Given the description of an element on the screen output the (x, y) to click on. 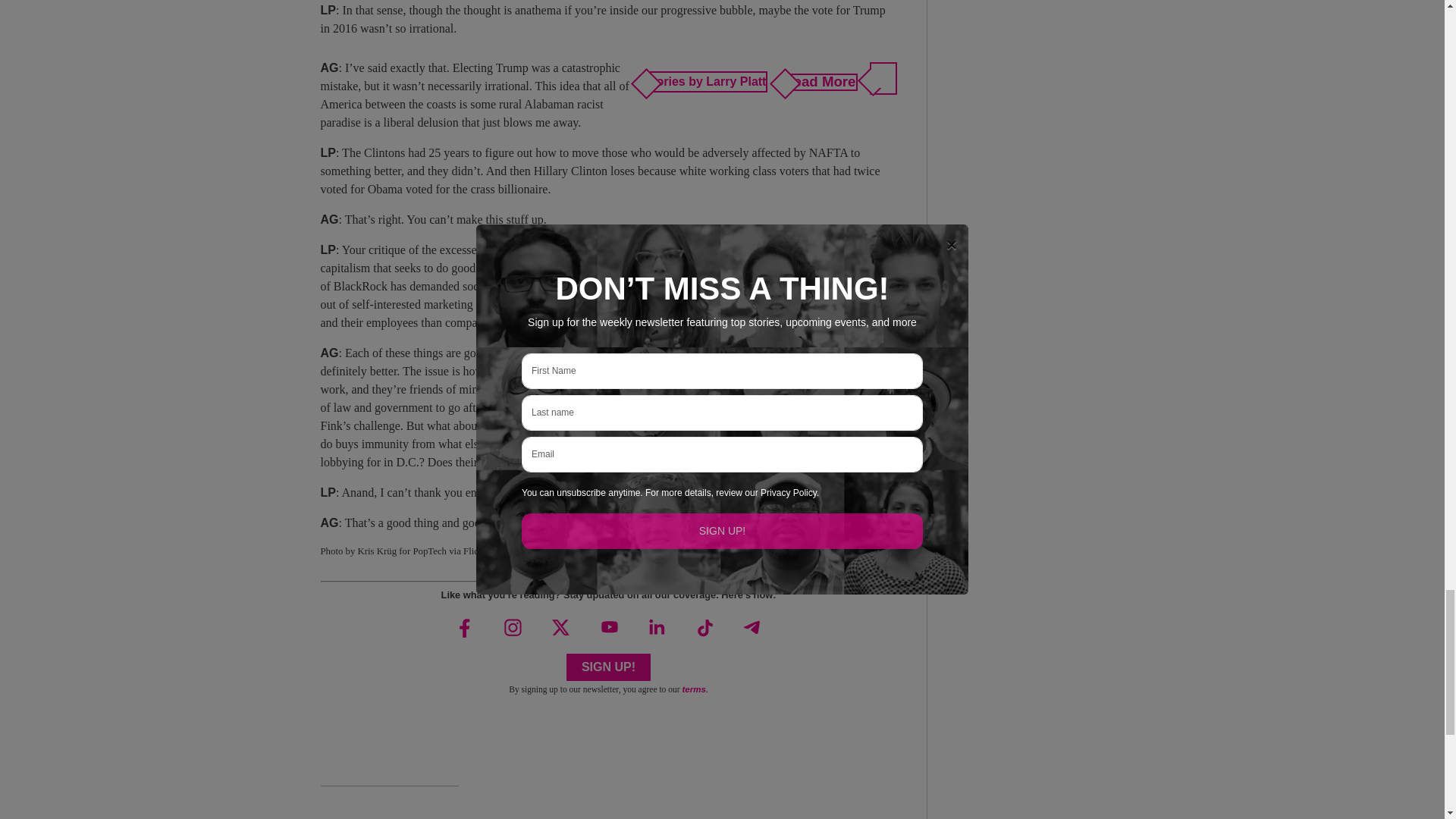
Instagram (512, 627)
Twitter (559, 627)
Facebook (464, 627)
Youtube (607, 627)
LinkedIn (656, 627)
